Given the description of an element on the screen output the (x, y) to click on. 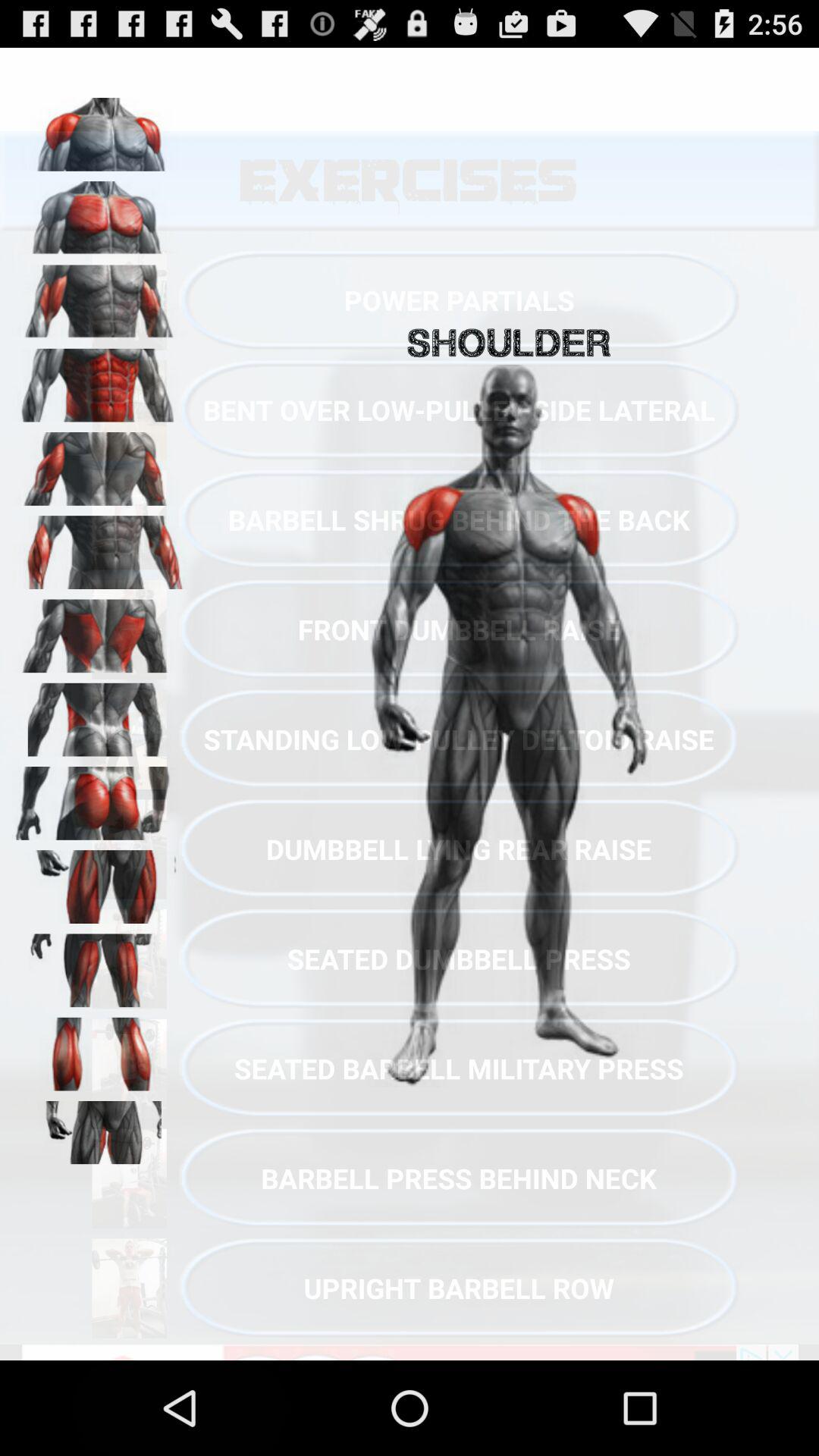
view gluteus maximus (99, 798)
